Given the description of an element on the screen output the (x, y) to click on. 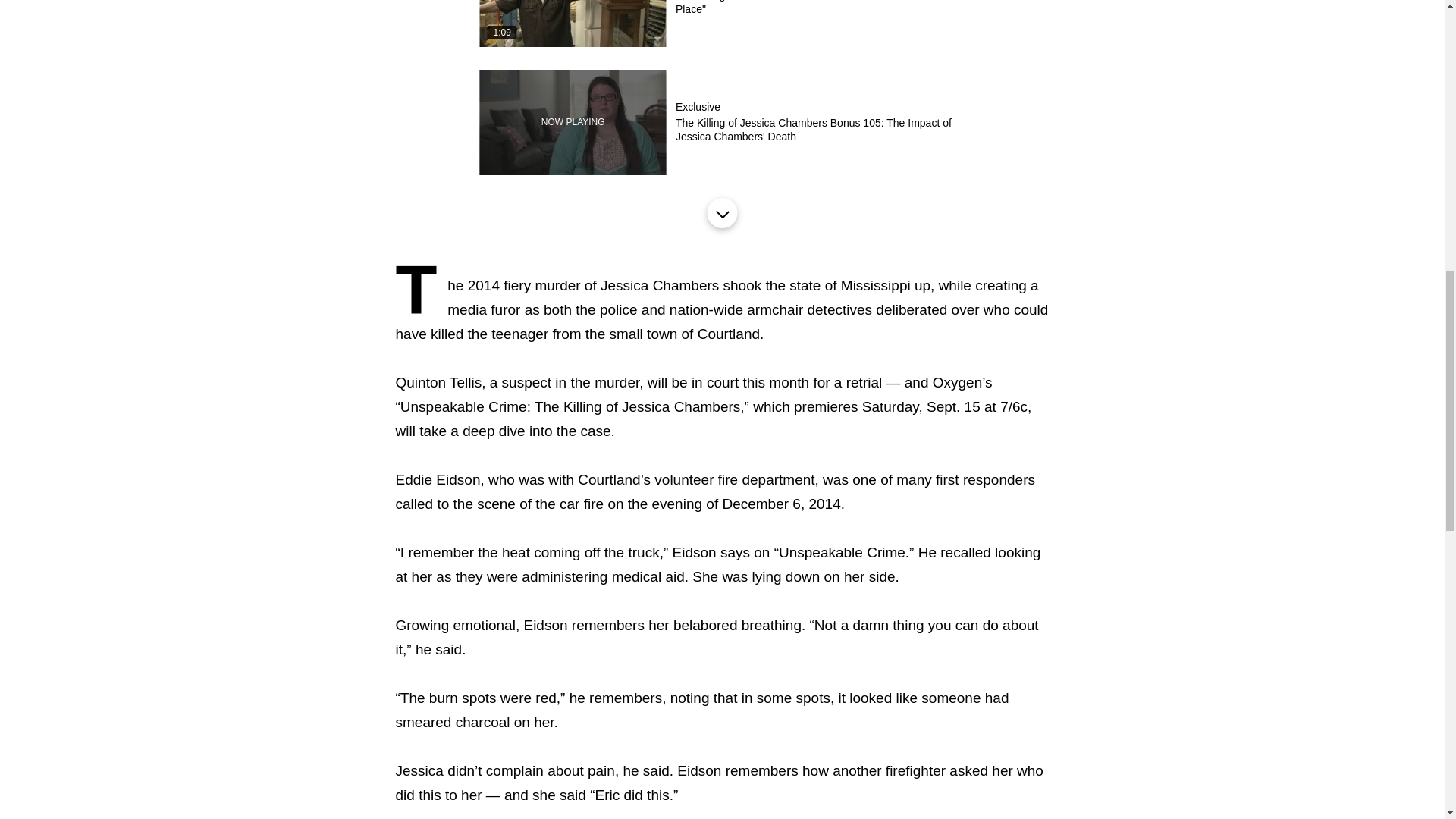
Load More (721, 213)
Unspeakable Crime: The Killing of Jessica Chambers (569, 406)
